Given the description of an element on the screen output the (x, y) to click on. 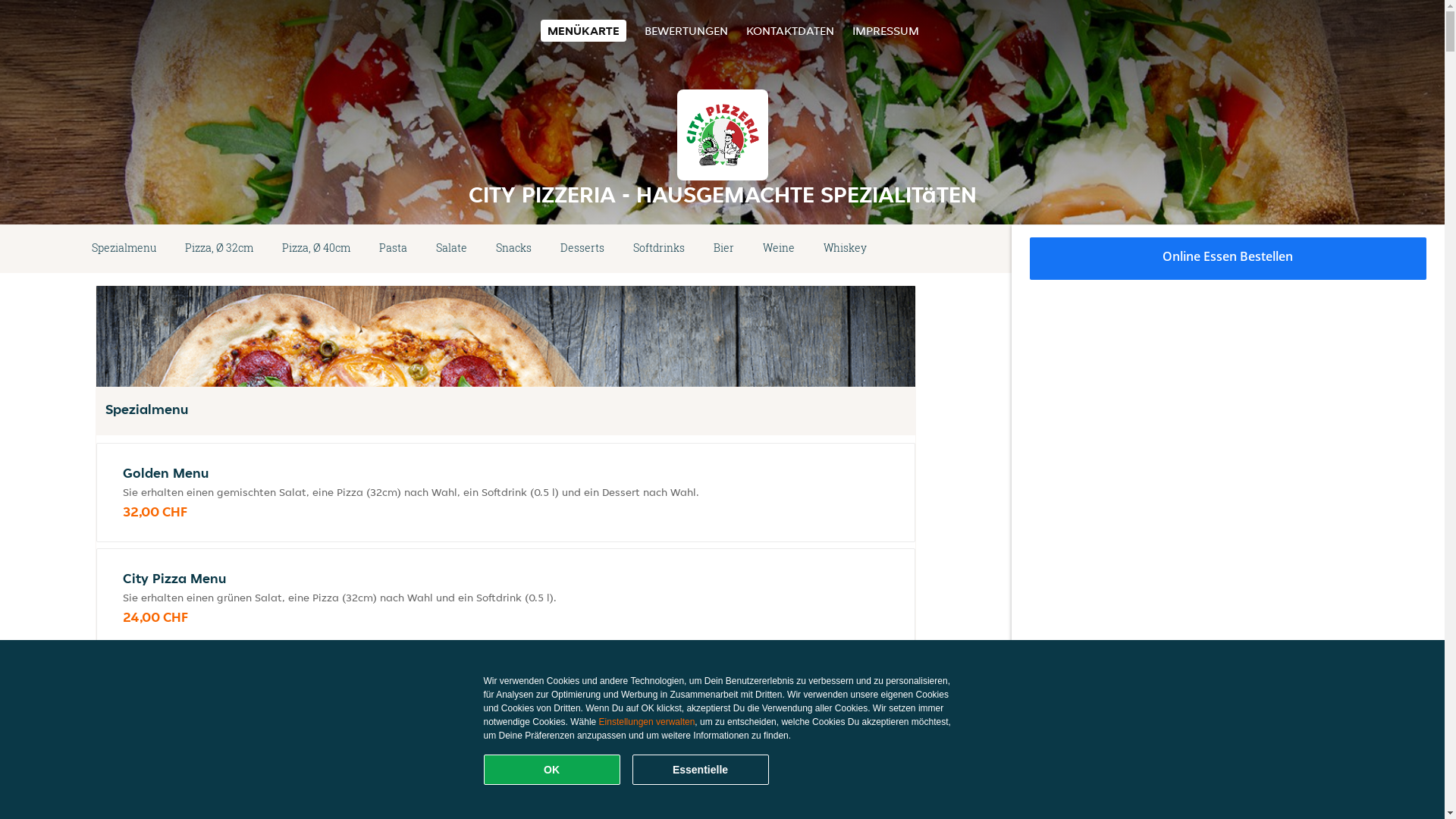
IMPRESSUM Element type: text (885, 30)
Desserts Element type: text (582, 248)
Spezialmenu Element type: text (123, 248)
Pasta Element type: text (392, 248)
Weine Element type: text (778, 248)
BEWERTUNGEN Element type: text (686, 30)
KONTAKTDATEN Element type: text (790, 30)
Softdrinks Element type: text (658, 248)
OK Element type: text (551, 769)
Essentielle Element type: text (700, 769)
Online Essen Bestellen Element type: text (1228, 258)
Einstellungen verwalten Element type: text (647, 721)
Whiskey Element type: text (845, 248)
Bier Element type: text (723, 248)
Snacks Element type: text (513, 248)
Salate Element type: text (451, 248)
